Given the description of an element on the screen output the (x, y) to click on. 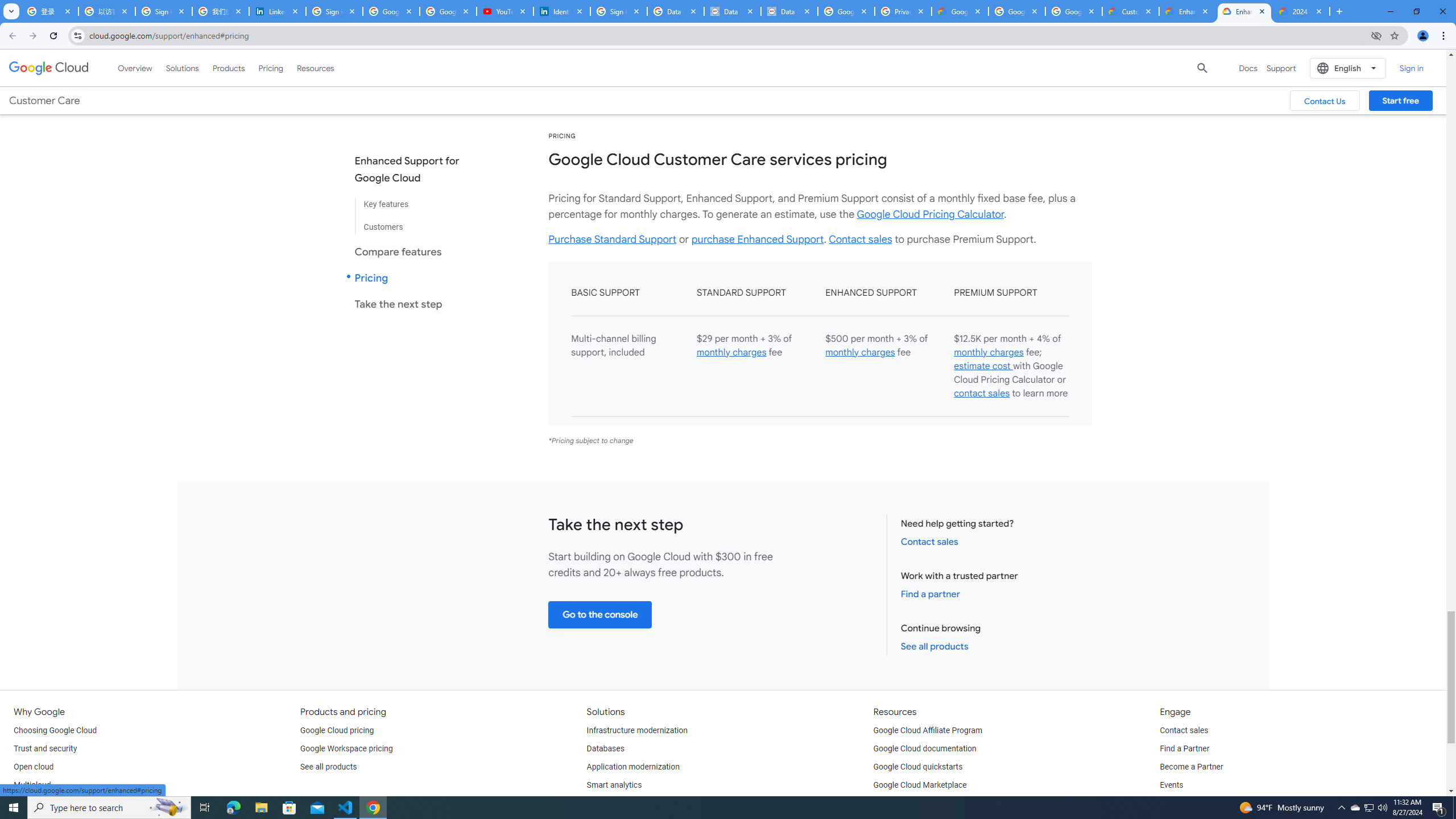
Google Cloud (48, 67)
Key features (416, 204)
Infrastructure modernization (637, 730)
Podcasts (1175, 802)
Contact sales (1183, 730)
Identity verification via Persona | LinkedIn Help (561, 11)
Sign in - Google Accounts (618, 11)
Databases (605, 748)
Open cloud (33, 766)
contact sales (981, 393)
